Given the description of an element on the screen output the (x, y) to click on. 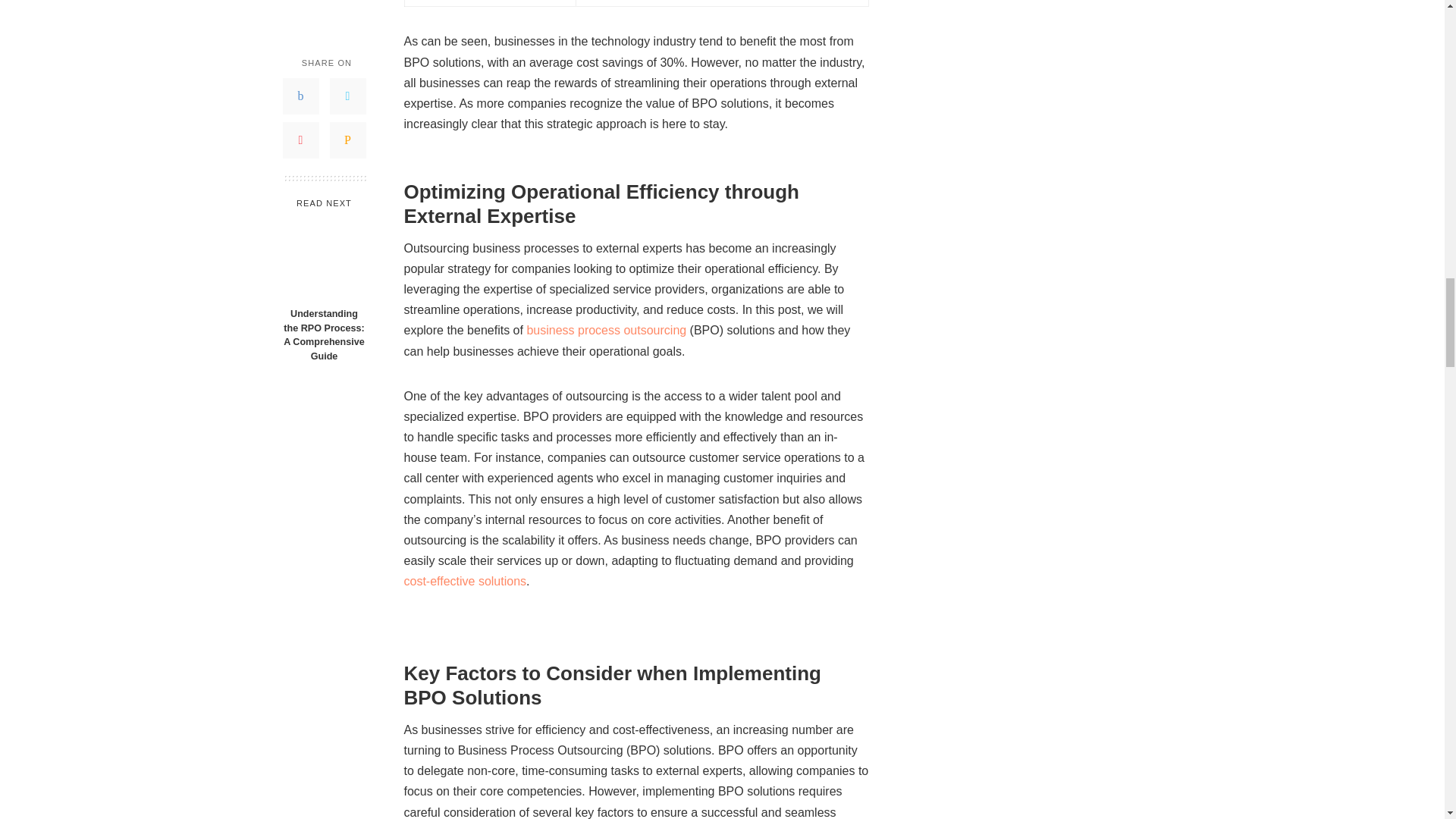
business process outsourcing (605, 329)
cost-effective solutions (464, 581)
